Given the description of an element on the screen output the (x, y) to click on. 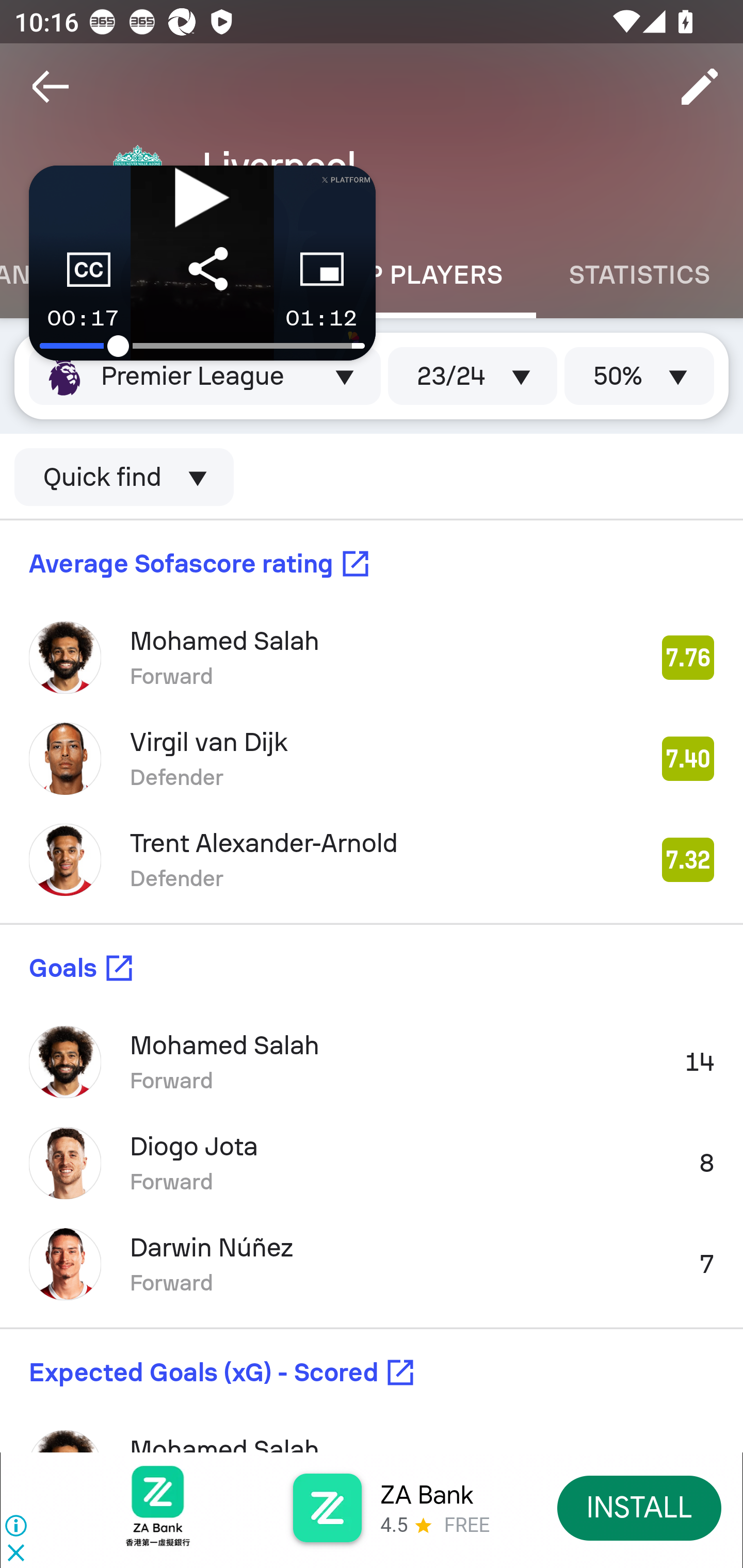
Navigate up (50, 86)
Edit (699, 86)
Statistics STATISTICS (639, 275)
Premier League (204, 375)
23/24 (472, 375)
50% (639, 375)
Quick find (371, 477)
Quick find (124, 477)
Average Sofascore rating (371, 563)
Mohamed Salah Forward 7.76 (371, 657)
Virgil van Dijk Defender 7.40 (371, 758)
Trent Alexander-Arnold Defender 7.32 (371, 860)
Goals (371, 968)
Mohamed Salah Forward 14 (371, 1062)
Diogo Jota Forward 8 (371, 1163)
Darwin Núñez Forward 7 (371, 1263)
Expected Goals (xG) - Scored (371, 1372)
INSTALL (639, 1507)
ZA Bank (426, 1494)
